Given the description of an element on the screen output the (x, y) to click on. 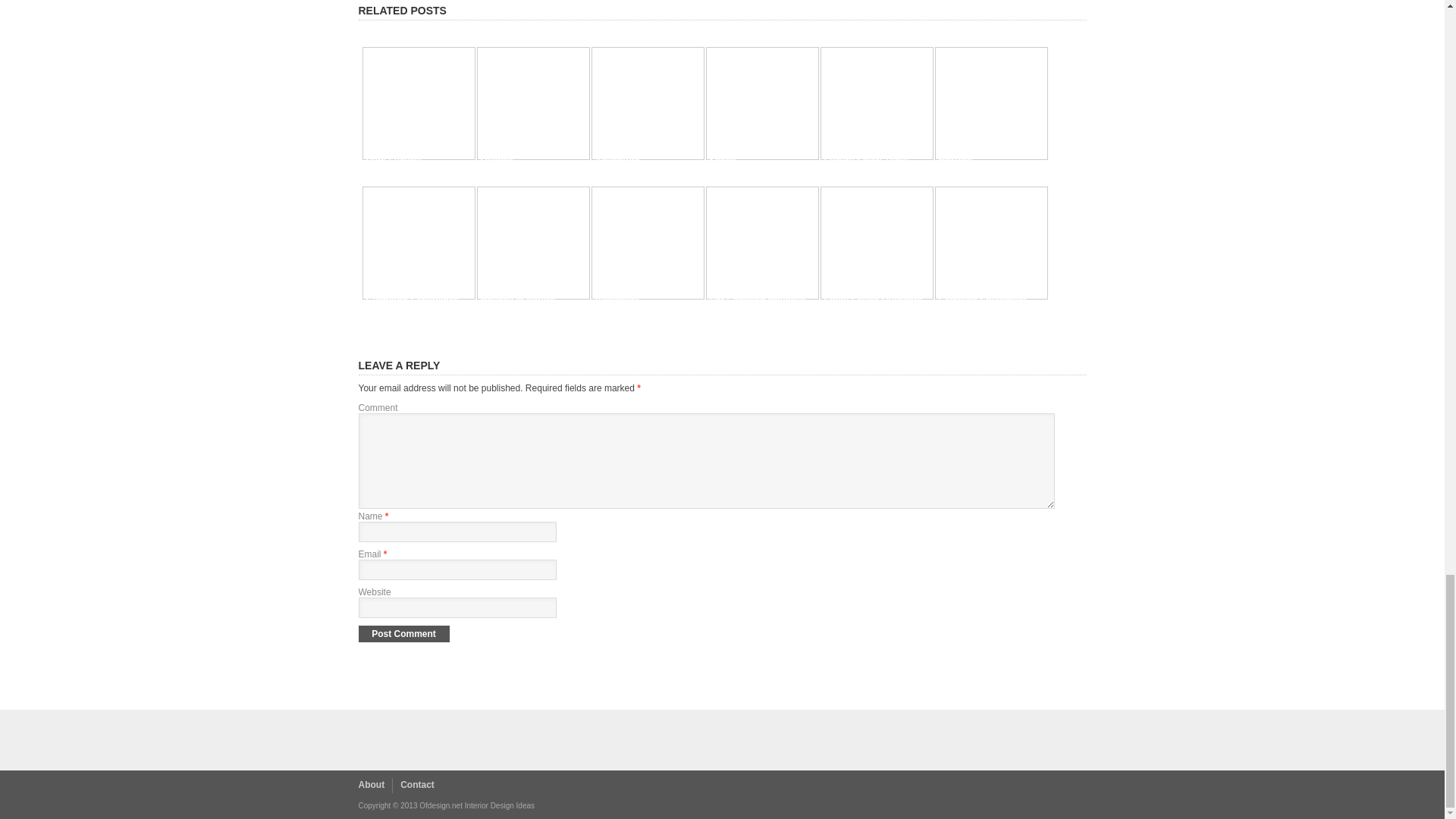
15 Cool Design Ideas Tent Invite You To An Adventure (639, 145)
Glamping Tent Camping Holiday Of Pure Luxury! (408, 145)
Post Comment (403, 633)
